Given the description of an element on the screen output the (x, y) to click on. 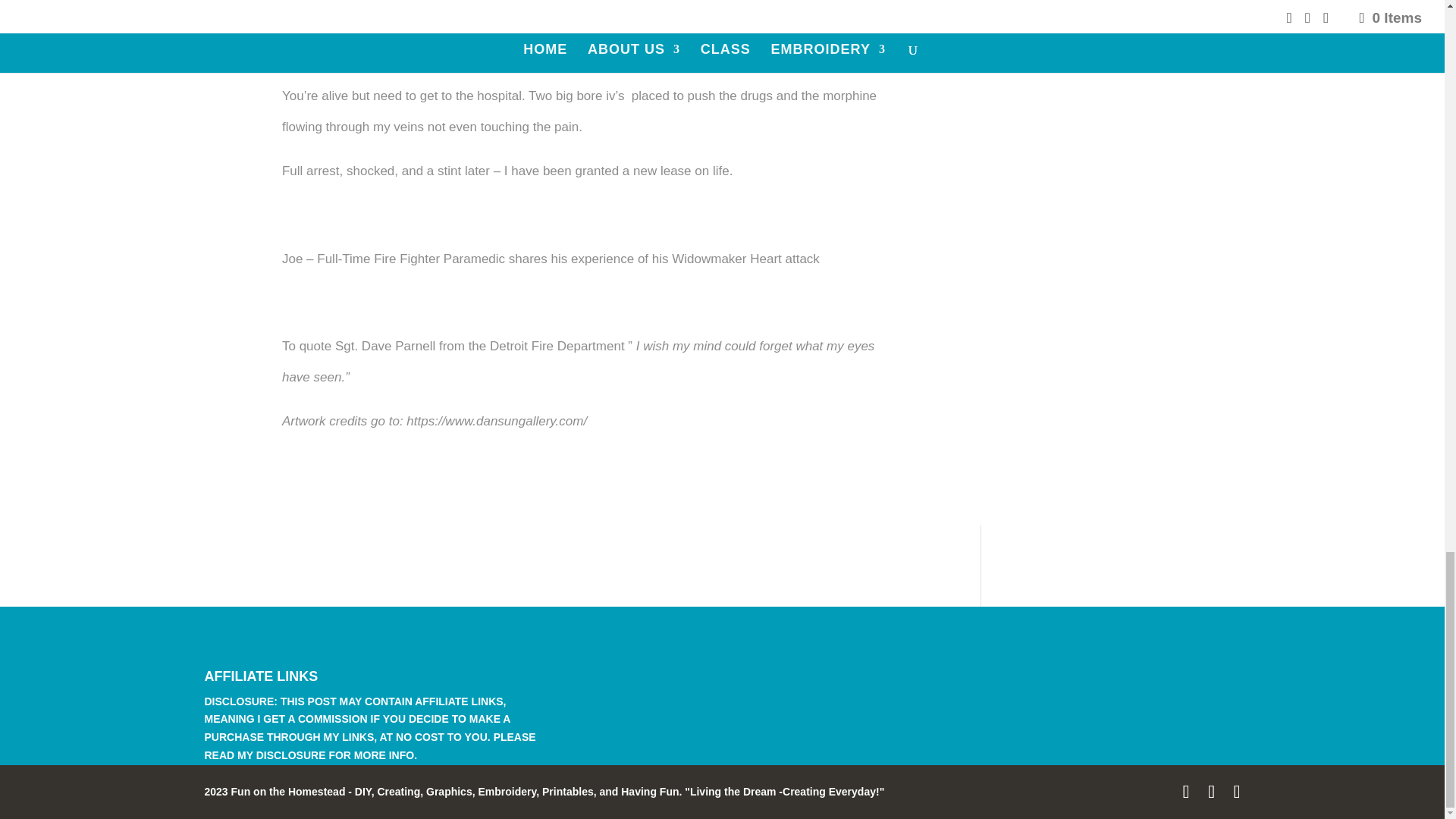
DISCLOSURE (291, 755)
